Given the description of an element on the screen output the (x, y) to click on. 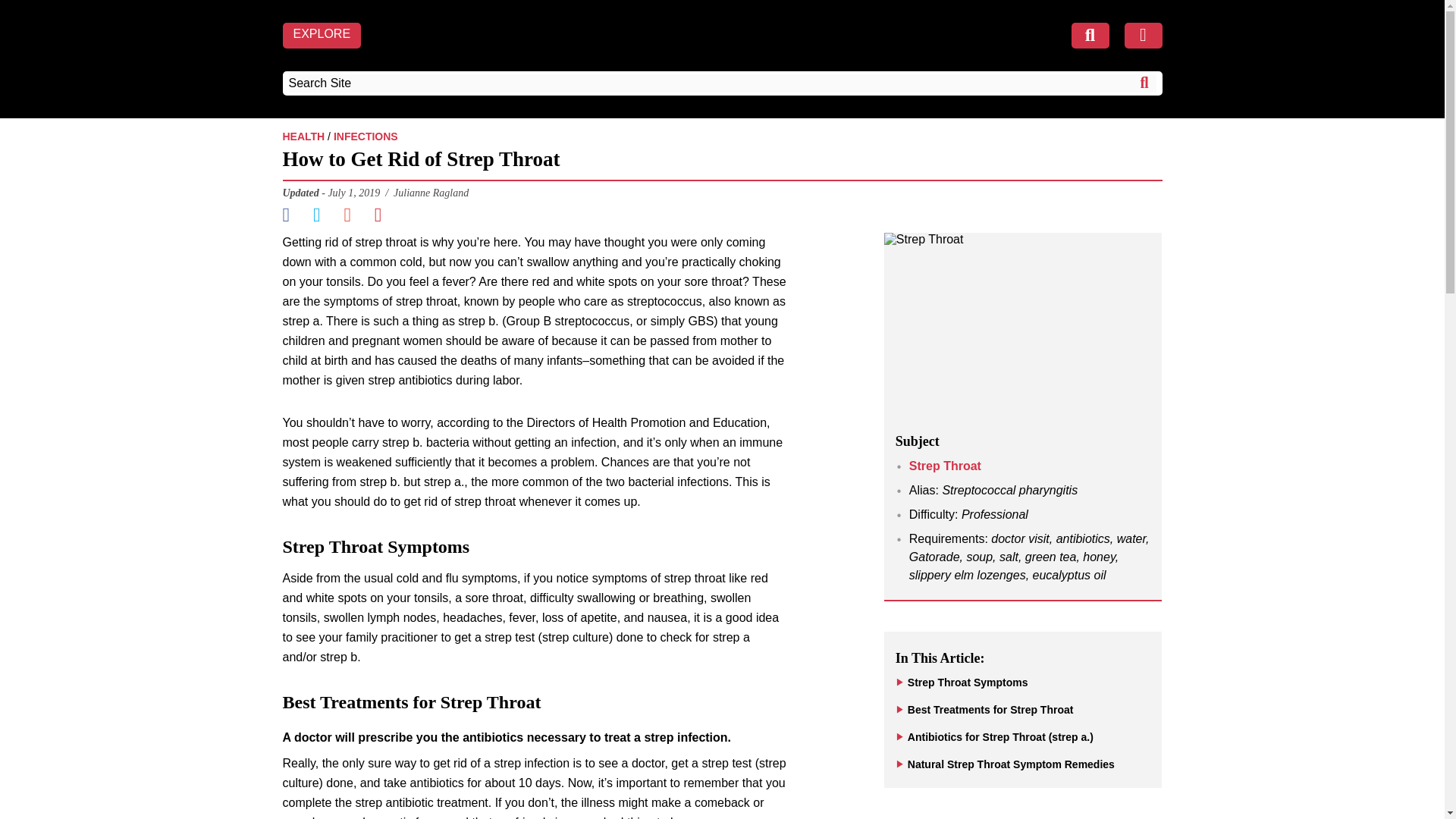
EXPLORE (321, 35)
